Given the description of an element on the screen output the (x, y) to click on. 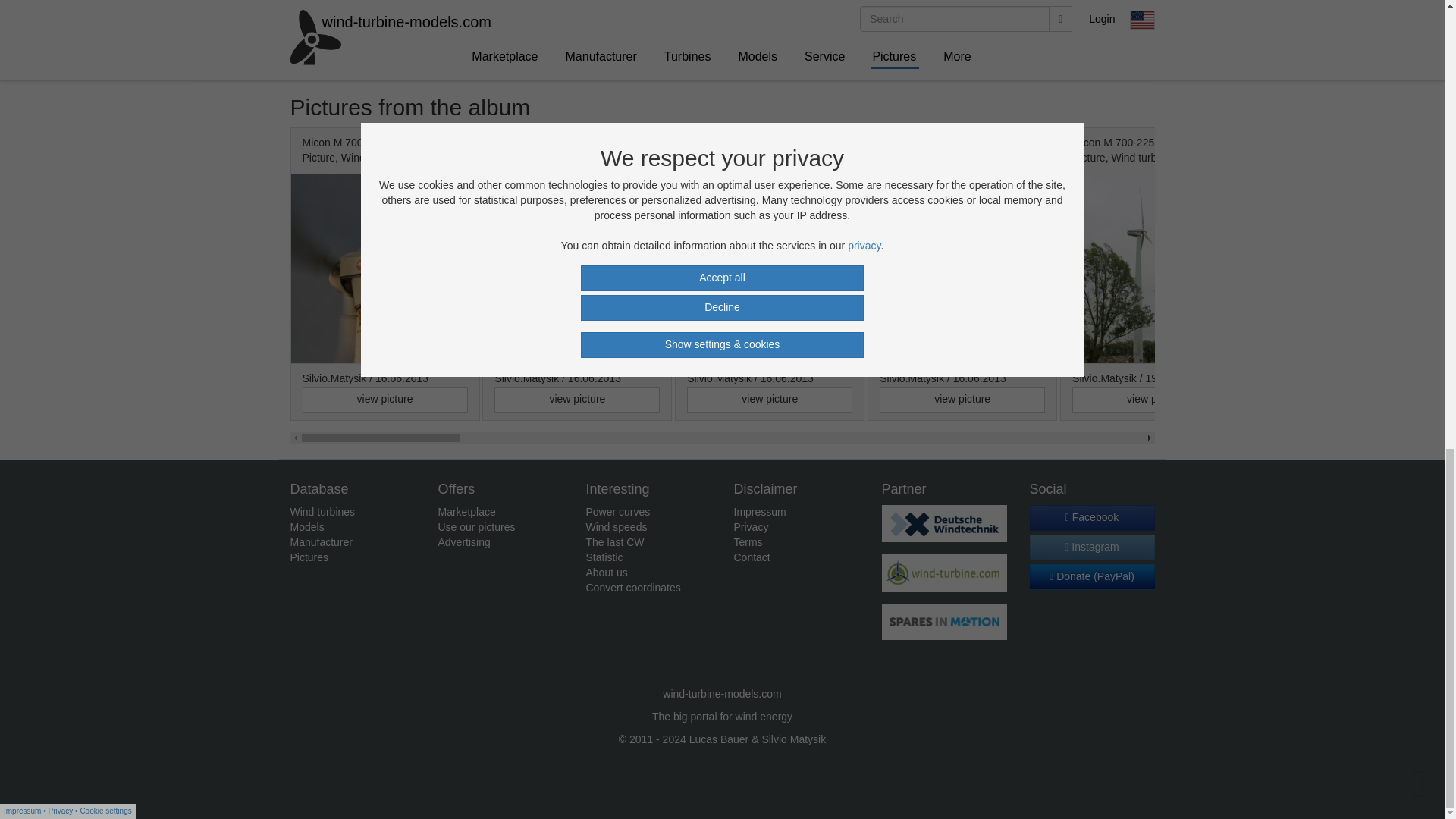
view picture (384, 399)
view picture (769, 399)
view picture (577, 399)
view picture (1154, 399)
view picture (1347, 399)
view picture (962, 399)
